Given the description of an element on the screen output the (x, y) to click on. 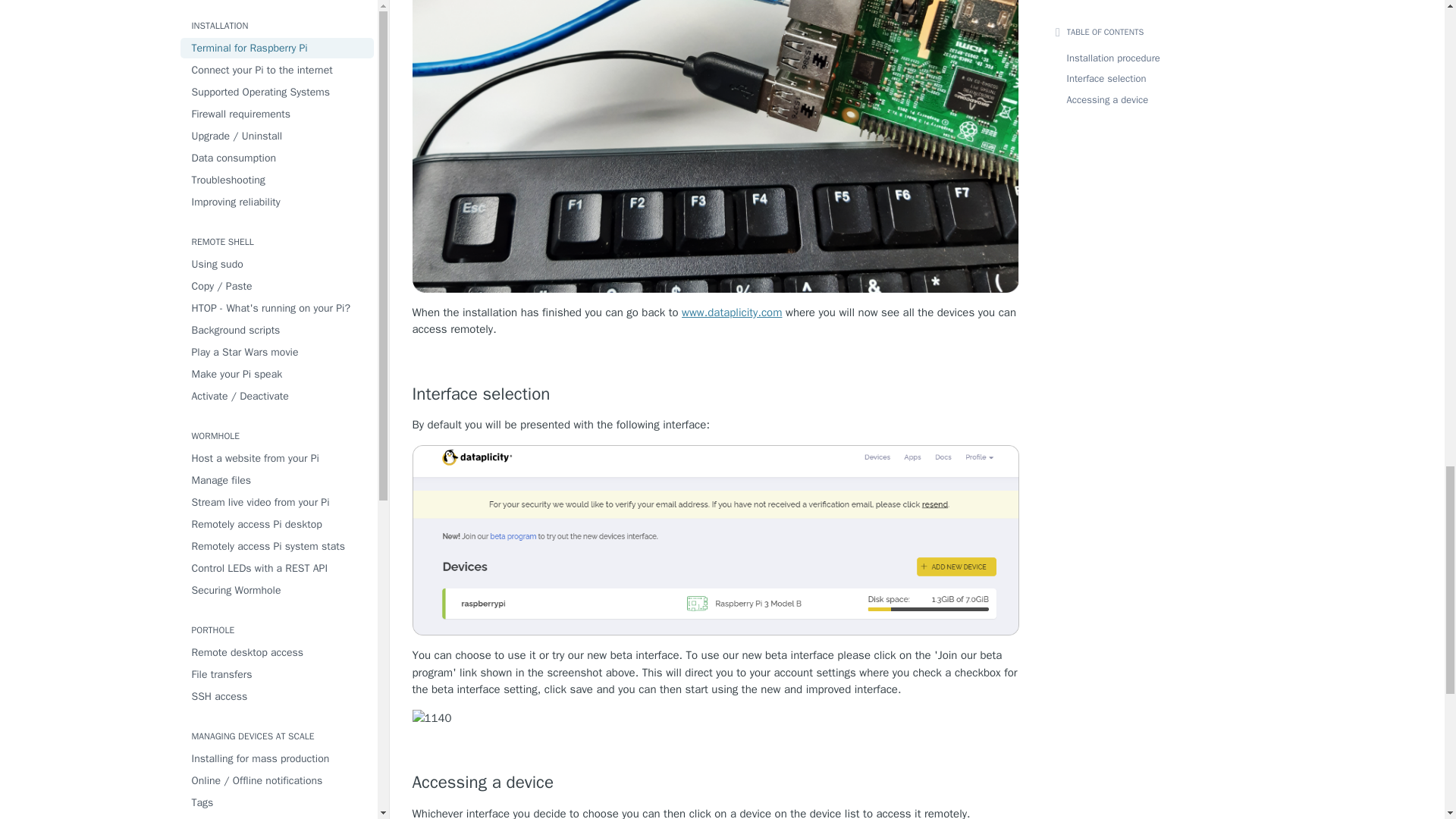
Interface selection (715, 394)
Accessing a device (715, 782)
registration.png (715, 718)
